Given the description of an element on the screen output the (x, y) to click on. 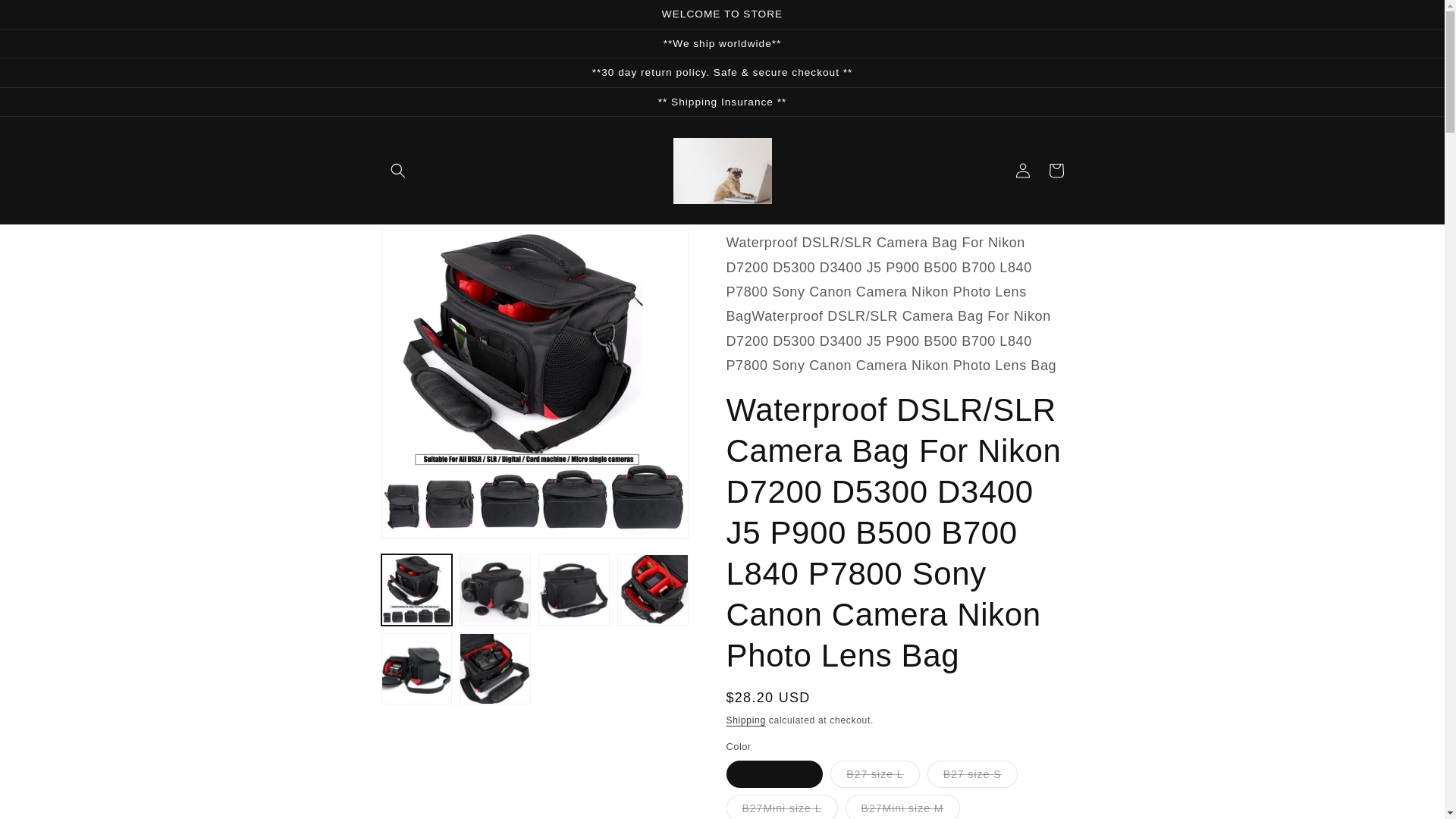
Shipping (745, 719)
Log in (1022, 170)
Cart (1055, 170)
Skip to content (45, 17)
